Given the description of an element on the screen output the (x, y) to click on. 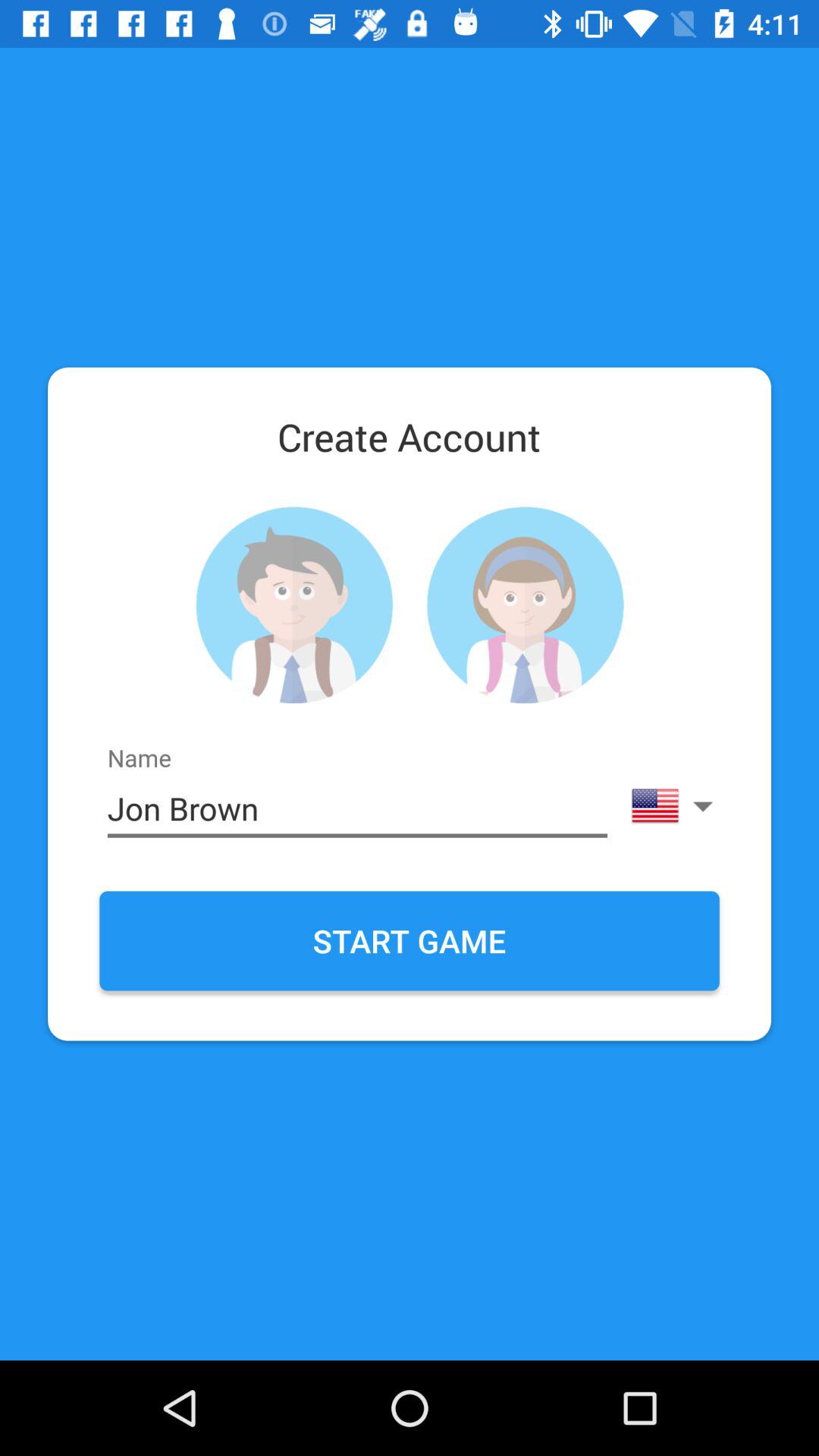
photo profile button (524, 605)
